Given the description of an element on the screen output the (x, y) to click on. 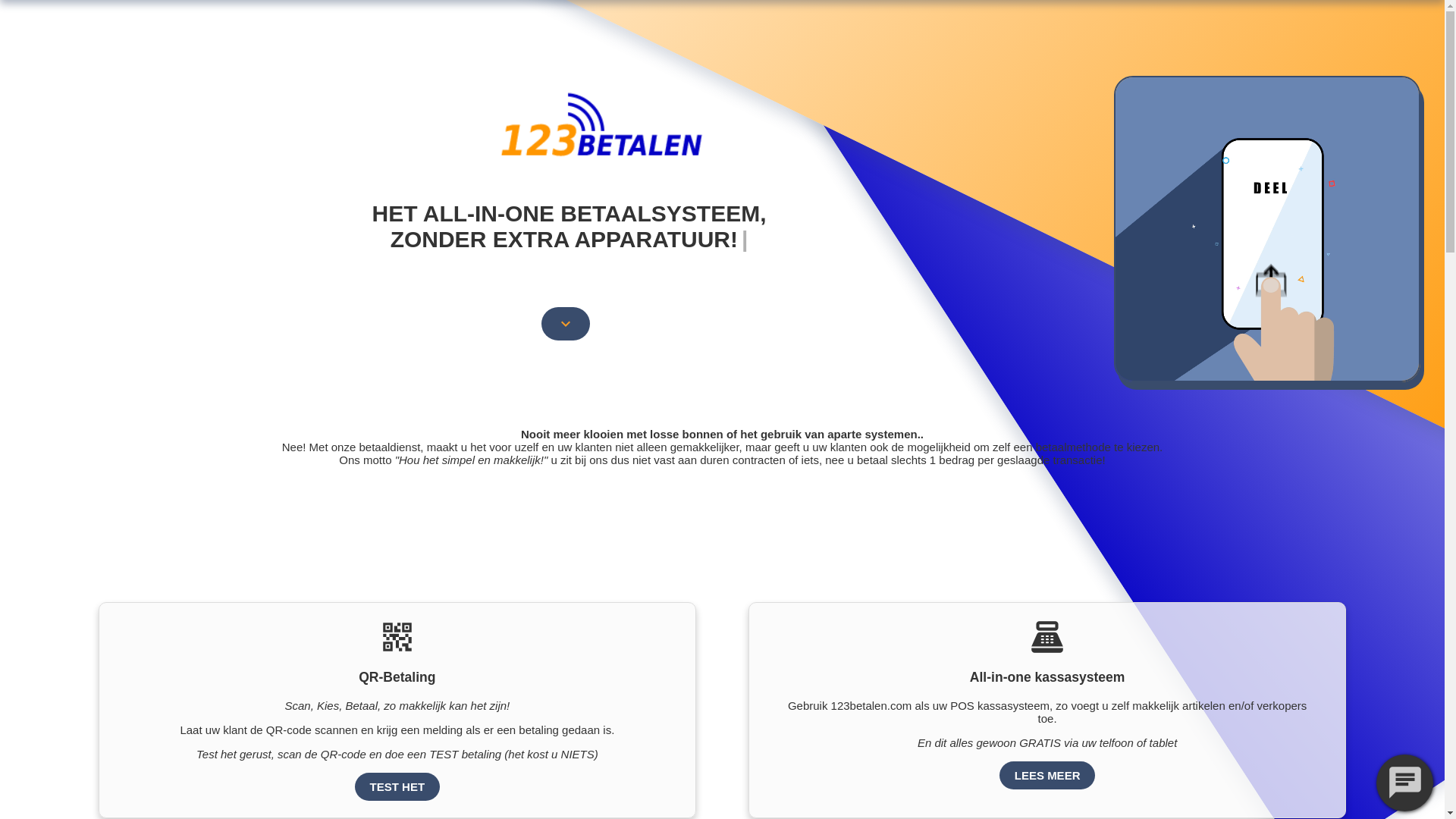
chat
Contact Element type: text (859, 37)
home
Home Element type: text (558, 37)
expand_more Element type: text (565, 297)
add
Aanmelden Element type: text (1158, 37)
  Element type: text (599, 263)
lock_open
INLOGGEN Element type: text (1001, 37)
extension
Hoe werkt het Element type: text (706, 37)
LEES MEER Element type: text (1047, 749)
TEST HET Element type: text (397, 760)
